Given the description of an element on the screen output the (x, y) to click on. 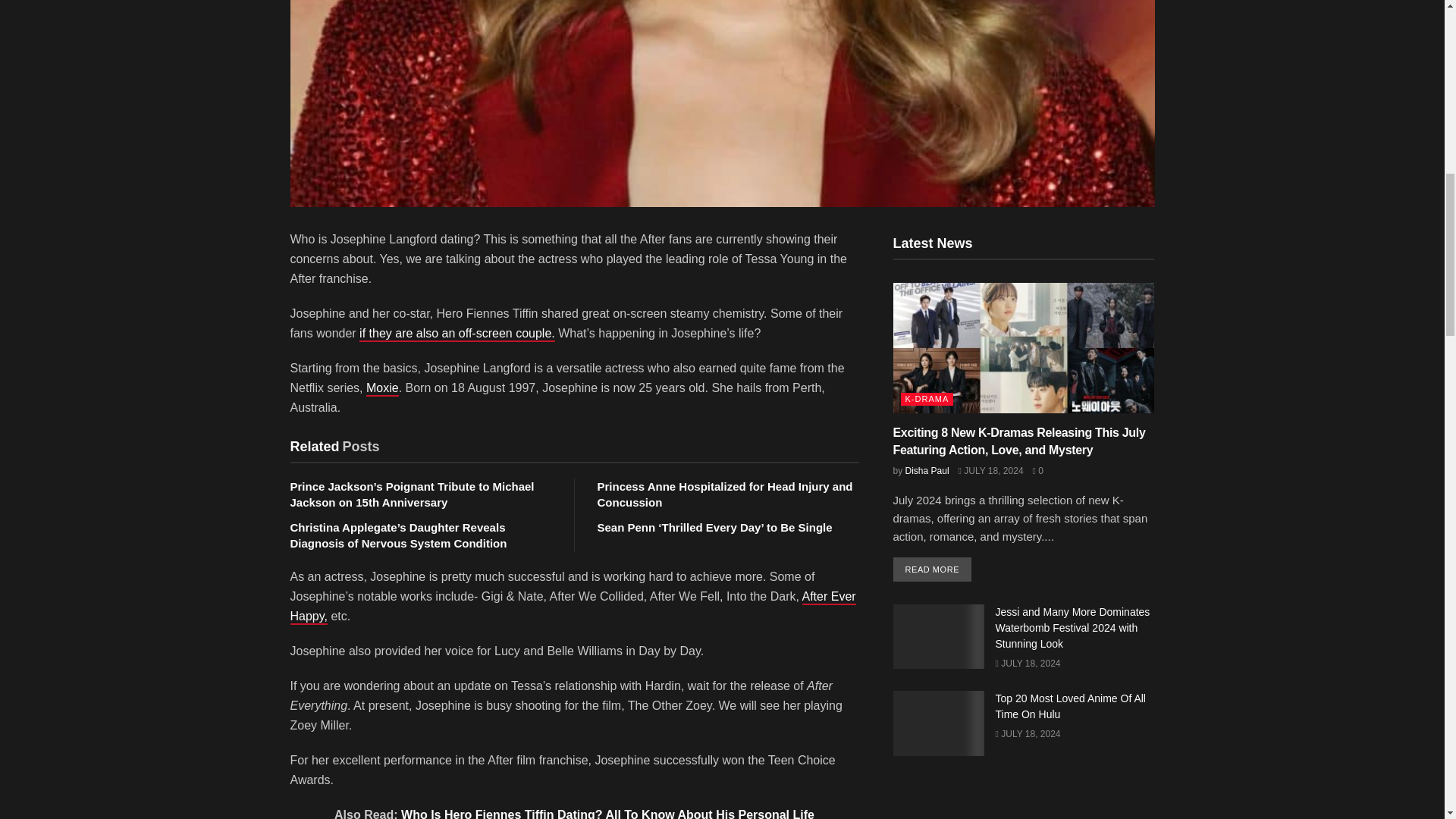
if they are also an off-screen couple. (456, 334)
Princess Anne Hospitalized for Head Injury and Concussion (724, 493)
After Ever Happy, (572, 606)
Moxie (382, 388)
